Given the description of an element on the screen output the (x, y) to click on. 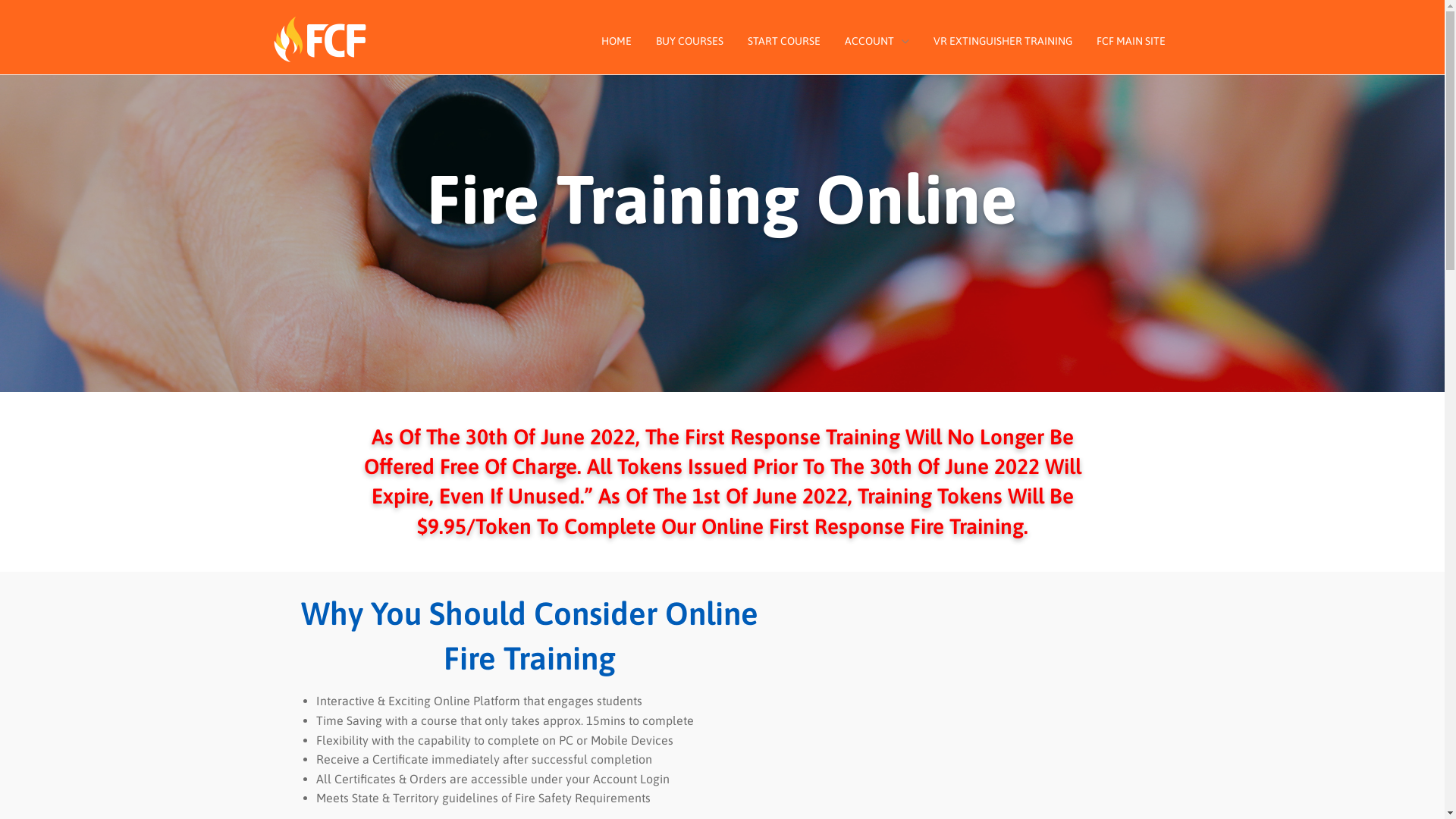
HOME Element type: text (615, 39)
VR EXTINGUISHER TRAINING Element type: text (1001, 39)
FCF MAIN SITE Element type: text (1130, 39)
START COURSE Element type: text (783, 39)
ACCOUNT Element type: text (876, 39)
BUY COURSES Element type: text (688, 39)
